Given the description of an element on the screen output the (x, y) to click on. 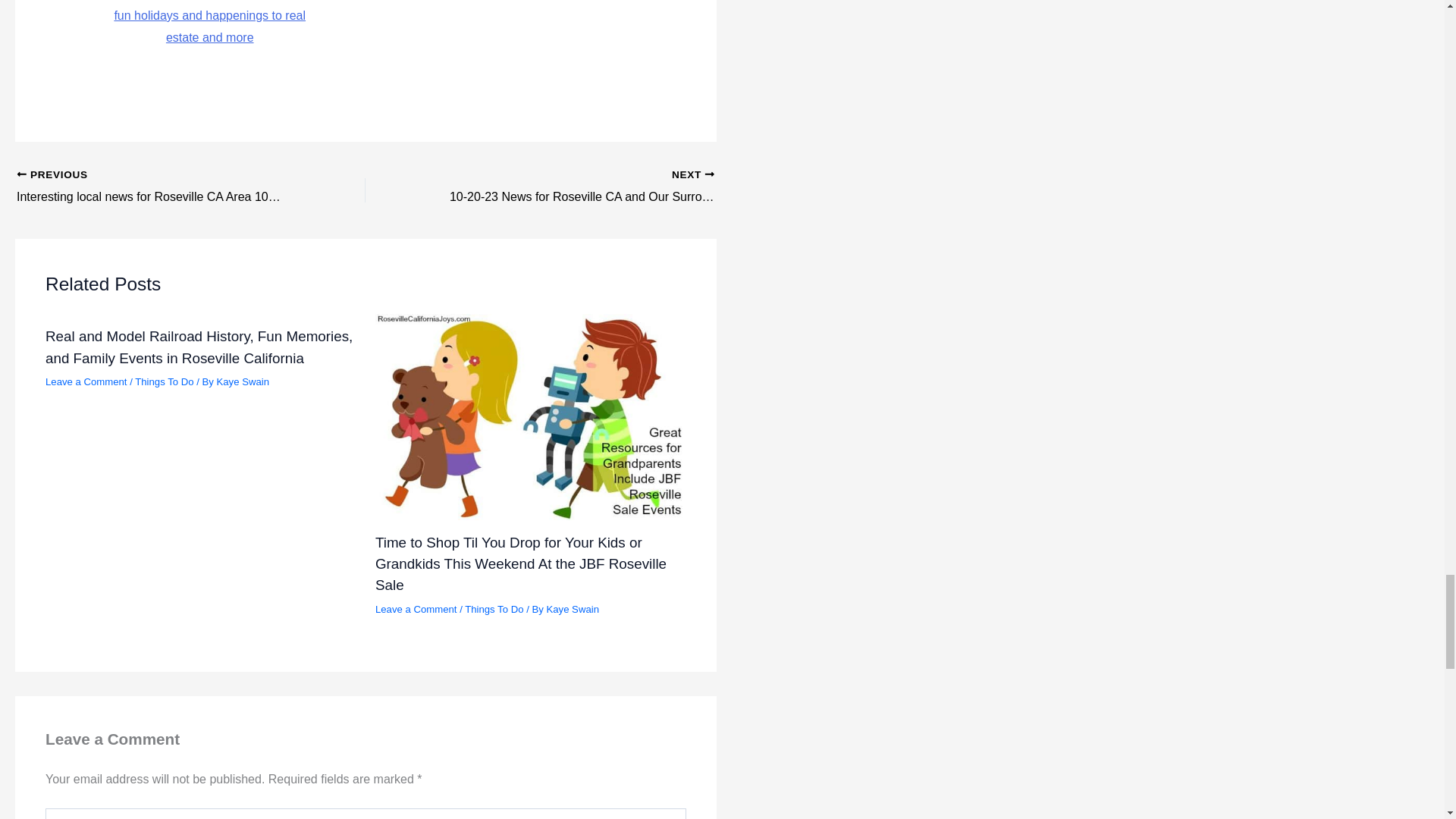
View all posts by Kaye Swain (572, 609)
View all posts by Kaye Swain (242, 381)
10-20-23 News for Roseville CA and Our Surrounding Area (573, 187)
Interesting local news for Roseville CA Area 10-7-23 (156, 187)
